Given the description of an element on the screen output the (x, y) to click on. 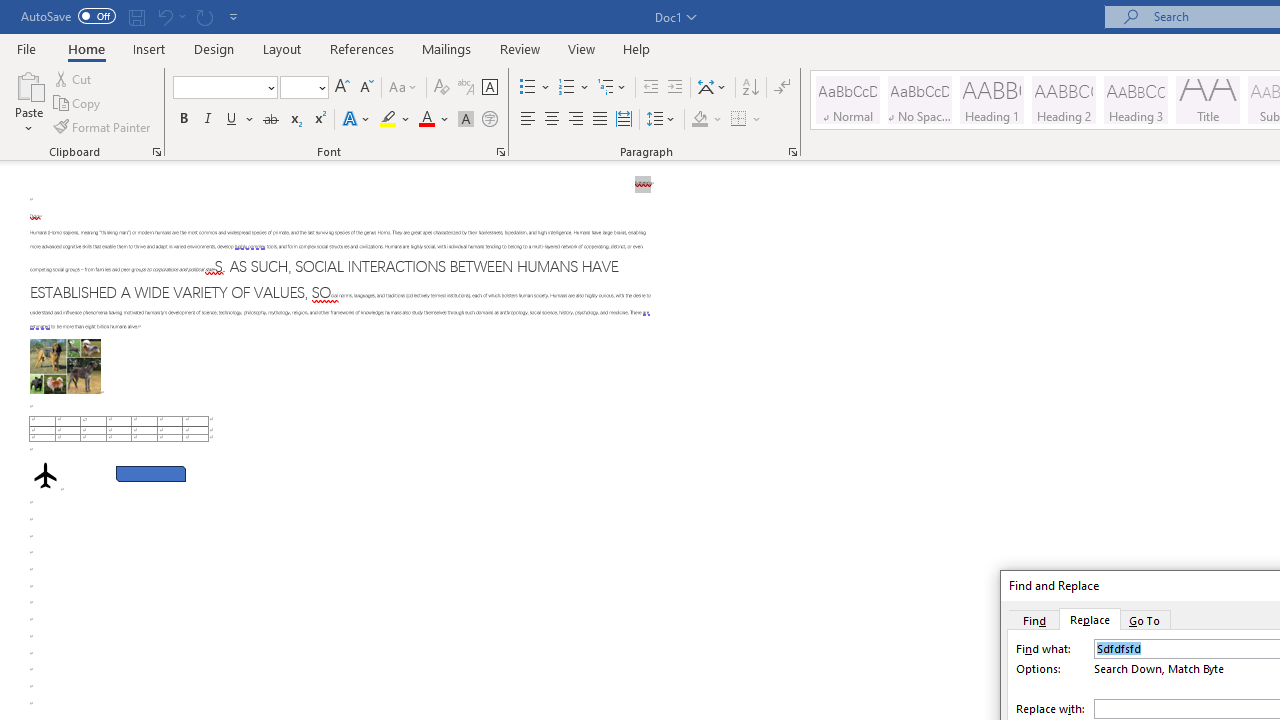
Go To (1145, 619)
Undo Paragraph Alignment (164, 15)
Heading 3 (1135, 100)
